Given the description of an element on the screen output the (x, y) to click on. 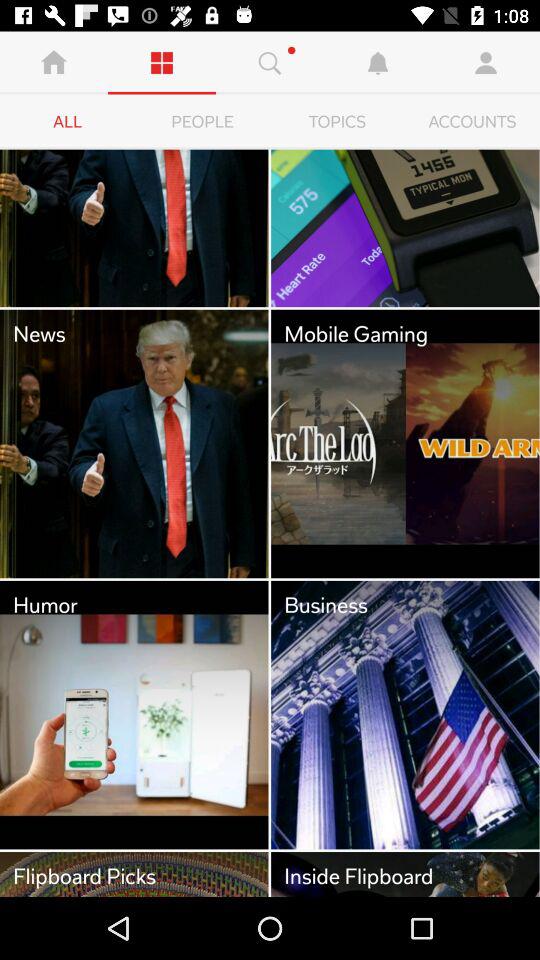
launch the icon to the right of the all item (202, 121)
